Given the description of an element on the screen output the (x, y) to click on. 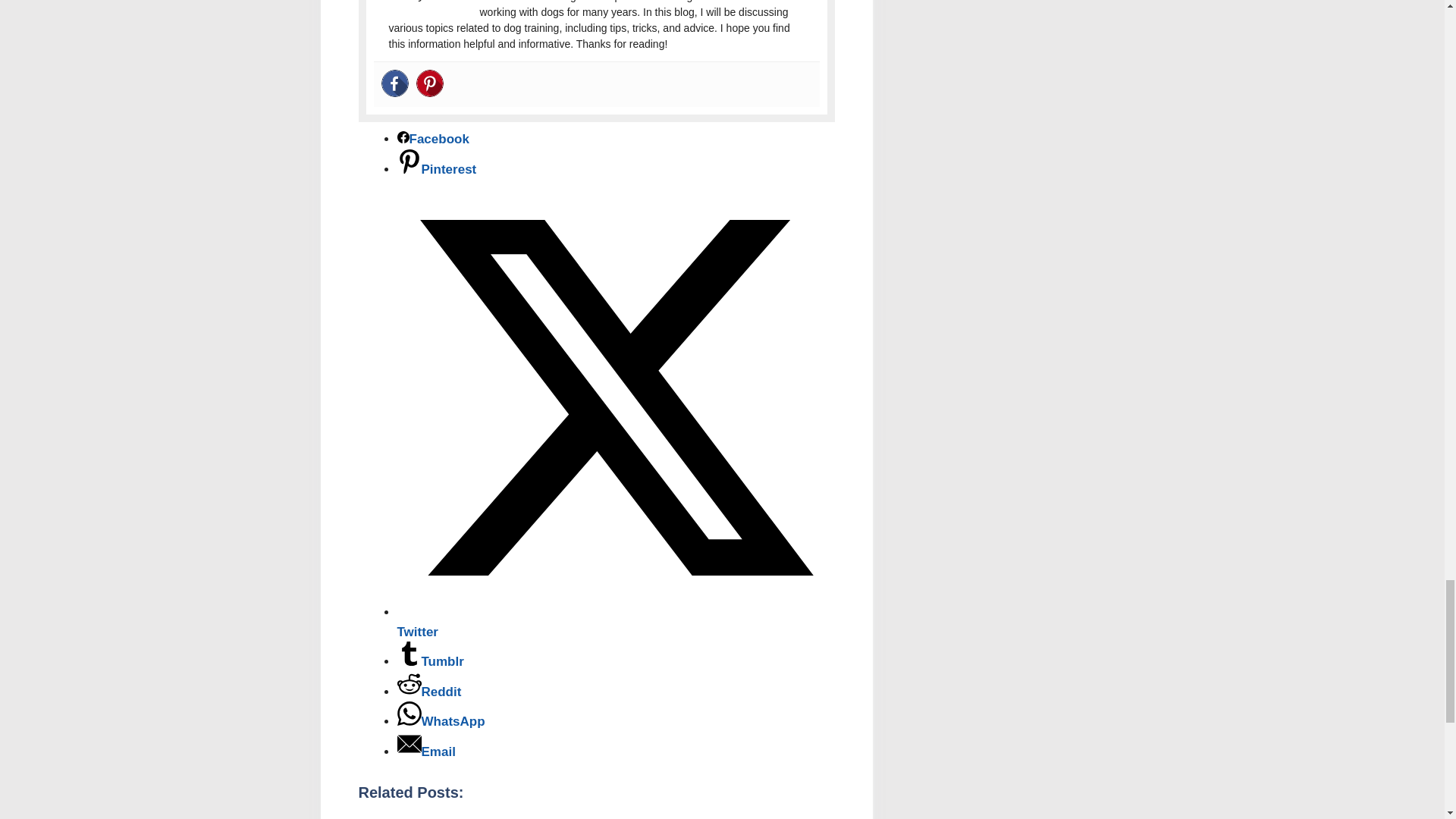
Share on Email (426, 751)
Share on Twitter (615, 622)
Pinterest (428, 83)
Share on Tumblr (430, 661)
Share on Pinterest (437, 169)
Share on WhatsApp (440, 721)
Share on Reddit (429, 691)
Share on Facebook (432, 138)
Facebook (393, 83)
Can Prey Drive Be Trained Out Of A Dog 2 (426, 2)
